Given the description of an element on the screen output the (x, y) to click on. 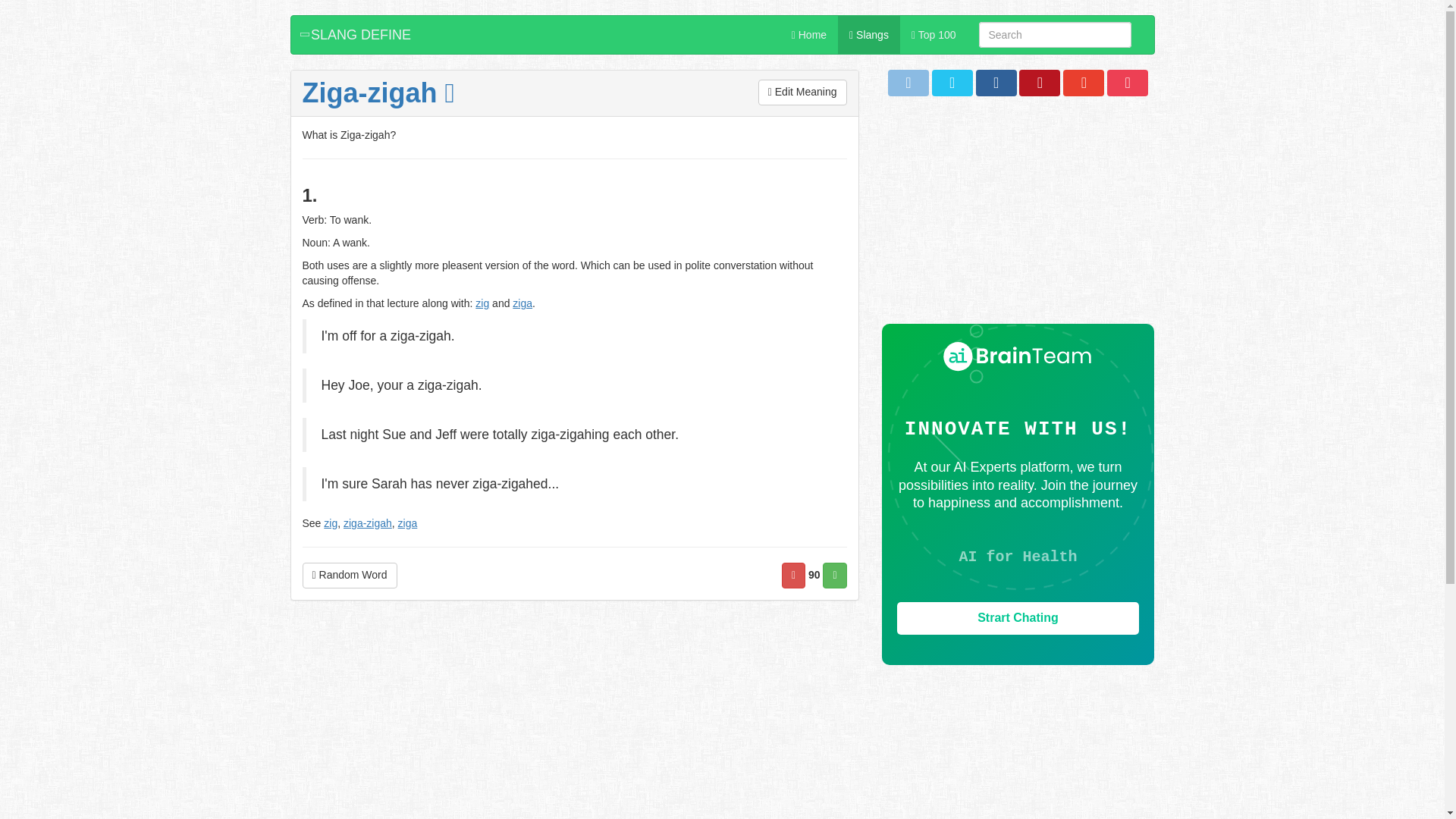
Home (809, 34)
SLANG DEFINE (357, 34)
Slangs (868, 34)
Strart Chating (1017, 617)
Top 100 (933, 34)
Edit Meaning (802, 92)
Random Word (348, 575)
Advertisement (574, 724)
Advertisement (1017, 217)
